Given the description of an element on the screen output the (x, y) to click on. 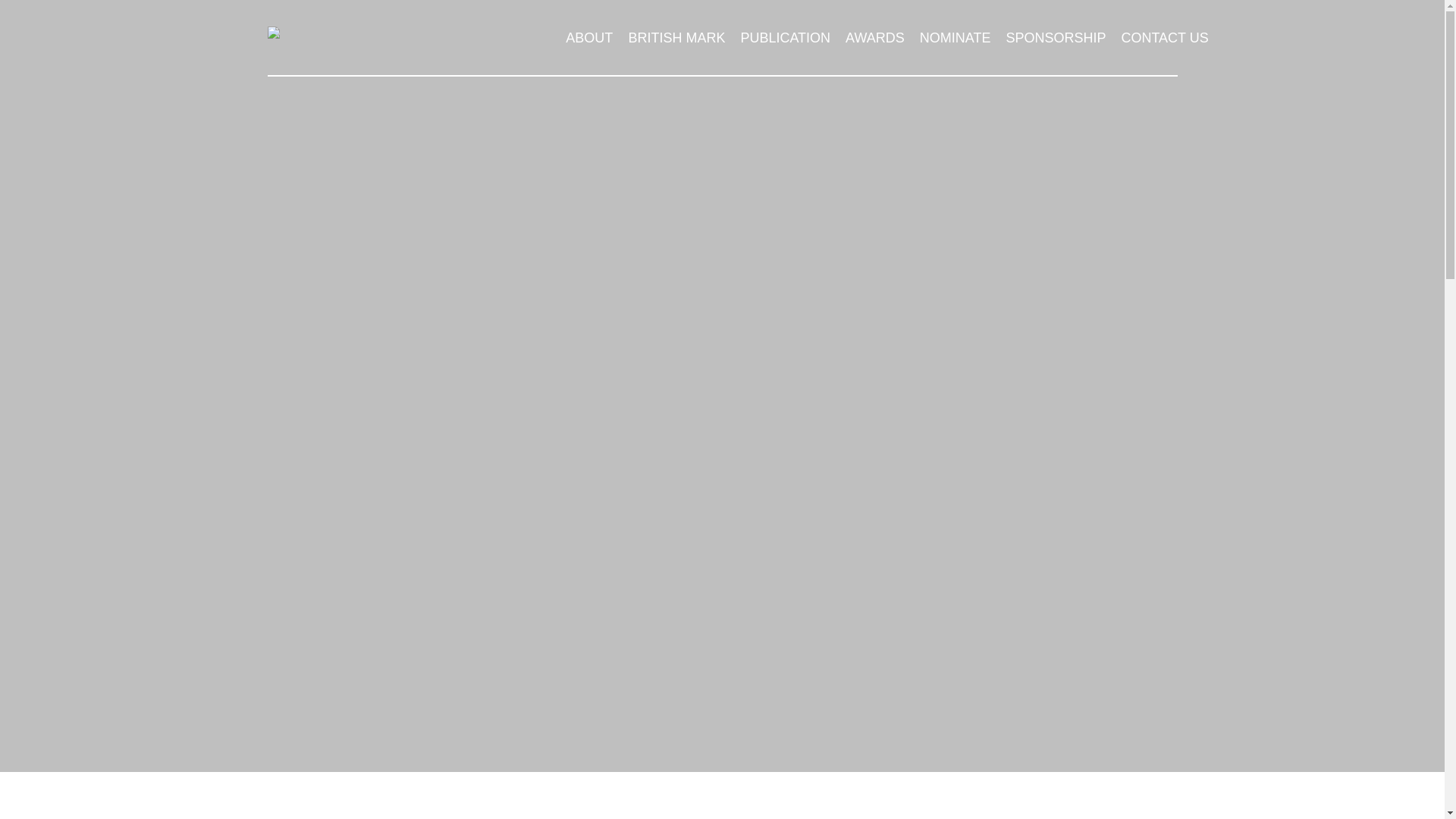
SPONSORSHIP (1055, 38)
AWARDS (875, 38)
NOMINATE (955, 38)
CONTACT US (1164, 38)
BRITISH MARK (676, 38)
PUBLICATION (785, 38)
ABOUT (588, 38)
